Given the description of an element on the screen output the (x, y) to click on. 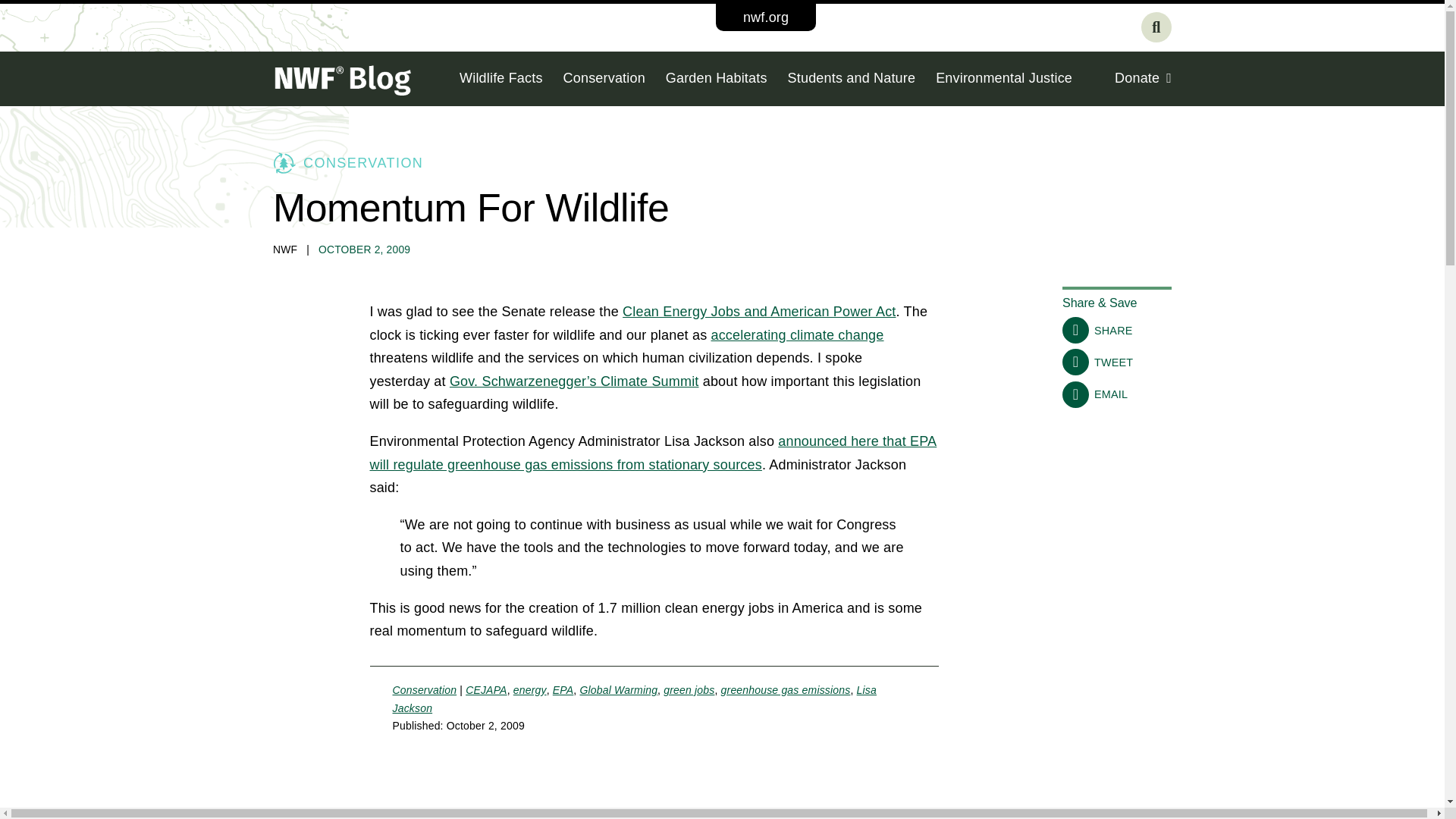
Conservation (425, 689)
Garden Habitats (716, 78)
Conservation (604, 78)
Wildlife Facts (501, 78)
SHARE (1097, 330)
greenhouse gas emissions (785, 689)
Donate (1143, 78)
green jobs (688, 689)
TWEET (1097, 362)
OCTOBER 2, 2009 (364, 249)
Global Warming (618, 689)
accelerating climate change (797, 335)
Lisa Jackson (635, 698)
EMAIL (1094, 394)
